Given the description of an element on the screen output the (x, y) to click on. 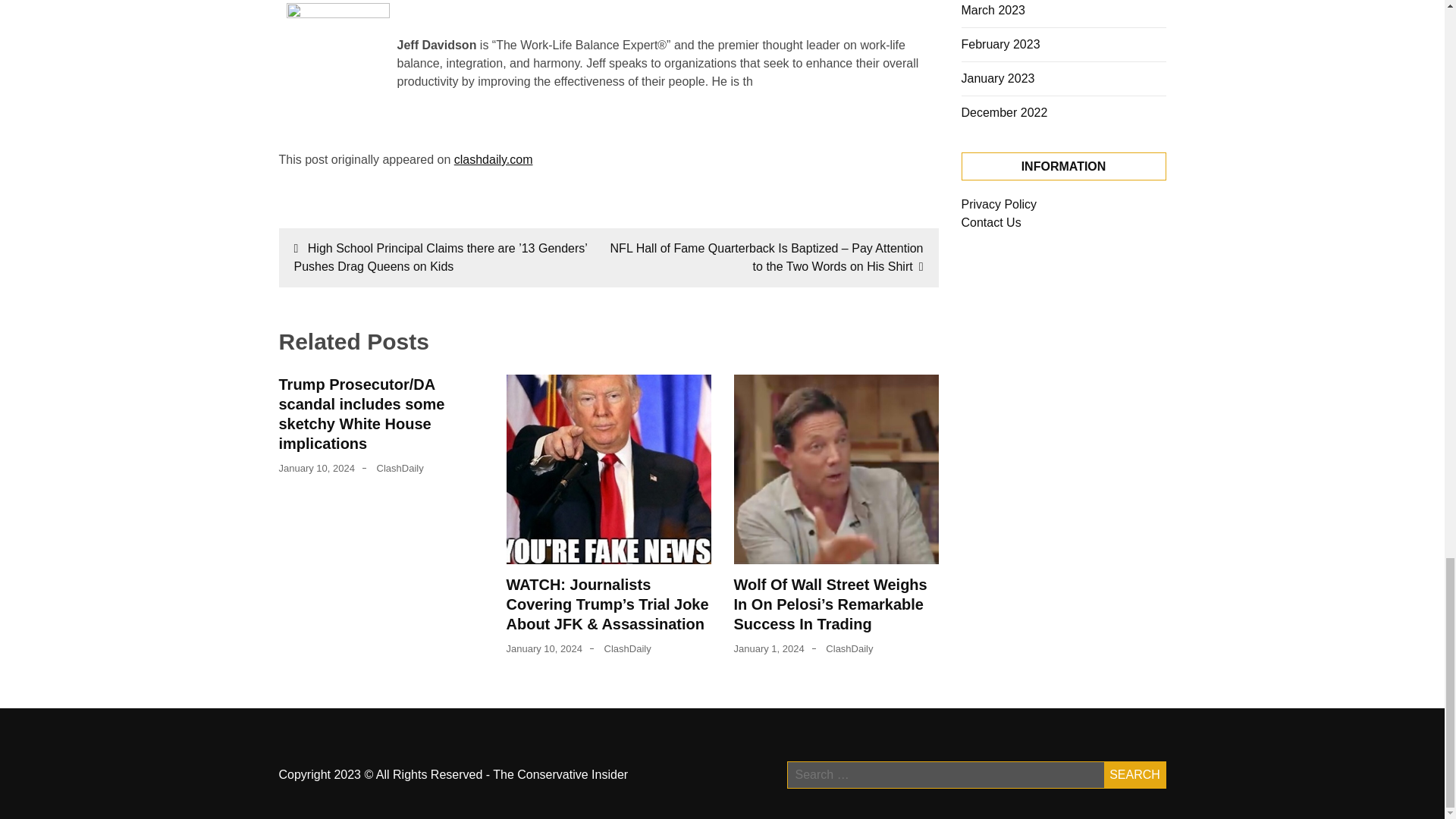
Search (1134, 774)
clashdaily.com (493, 159)
Search (1134, 774)
January 10, 2024 (317, 468)
